Given the description of an element on the screen output the (x, y) to click on. 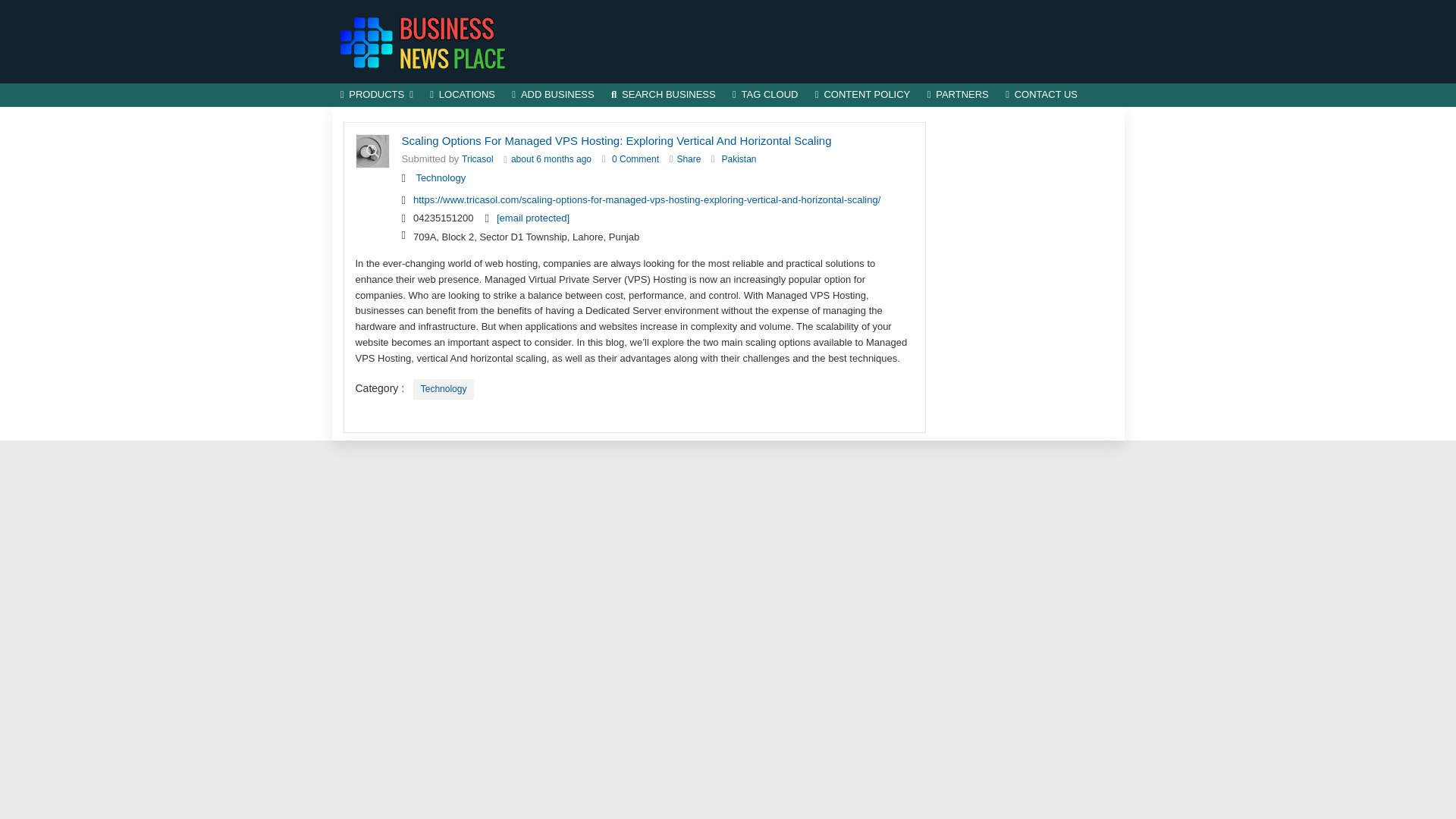
about 6 months ago (551, 158)
Pakistan (737, 158)
TAG CLOUD (764, 95)
Technology (443, 389)
about 6 months ago (551, 158)
PARTNERS (957, 95)
LOCATIONS (462, 95)
Pakistan (737, 158)
CONTENT POLICY (862, 95)
